Given the description of an element on the screen output the (x, y) to click on. 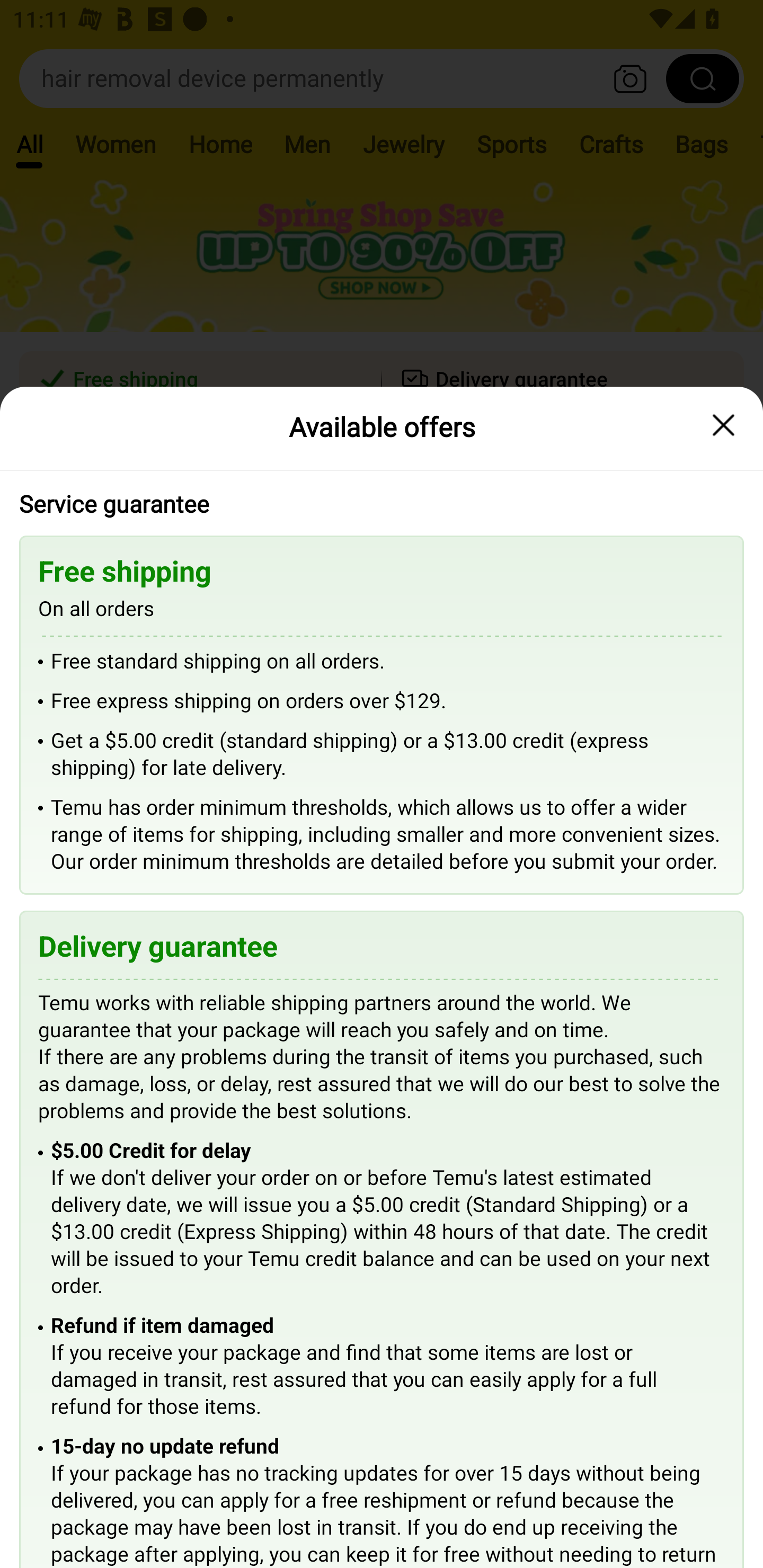
Lightning deals (379, 524)
